Given the description of an element on the screen output the (x, y) to click on. 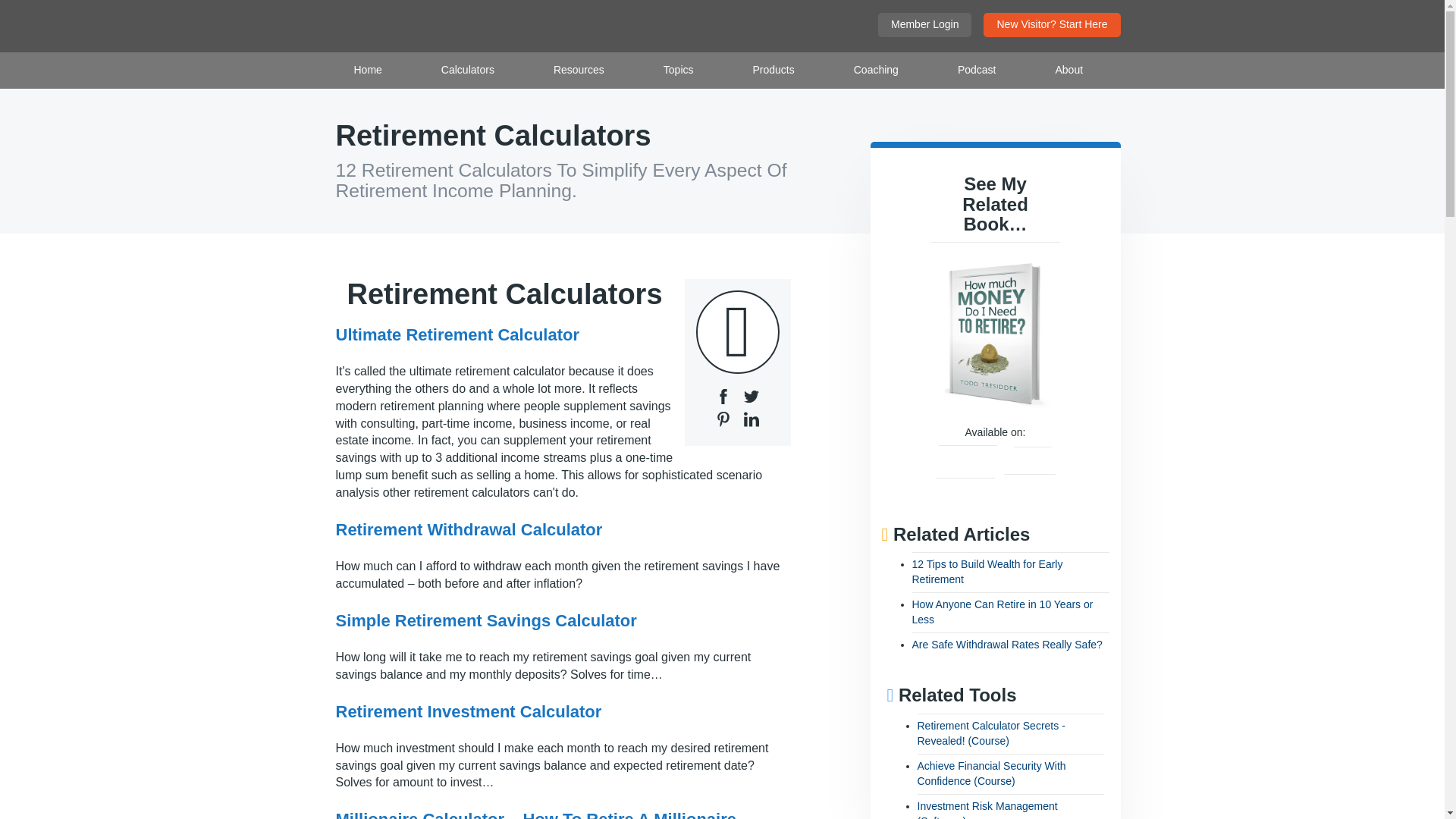
Products (773, 70)
Topics (678, 70)
Kobo (1032, 456)
About Us (1068, 70)
Retirement Investment Calculator (467, 711)
Amazon (968, 457)
Calculators (468, 70)
Retirement Investment Calculator (467, 711)
Financial Mentor (487, 25)
About (1068, 70)
Podcast (977, 70)
Click To See All Financial Calculators (736, 331)
New Visitor? Start Here (1051, 24)
Ultimate Retirement Calculator (456, 334)
Resources (578, 70)
